Given the description of an element on the screen output the (x, y) to click on. 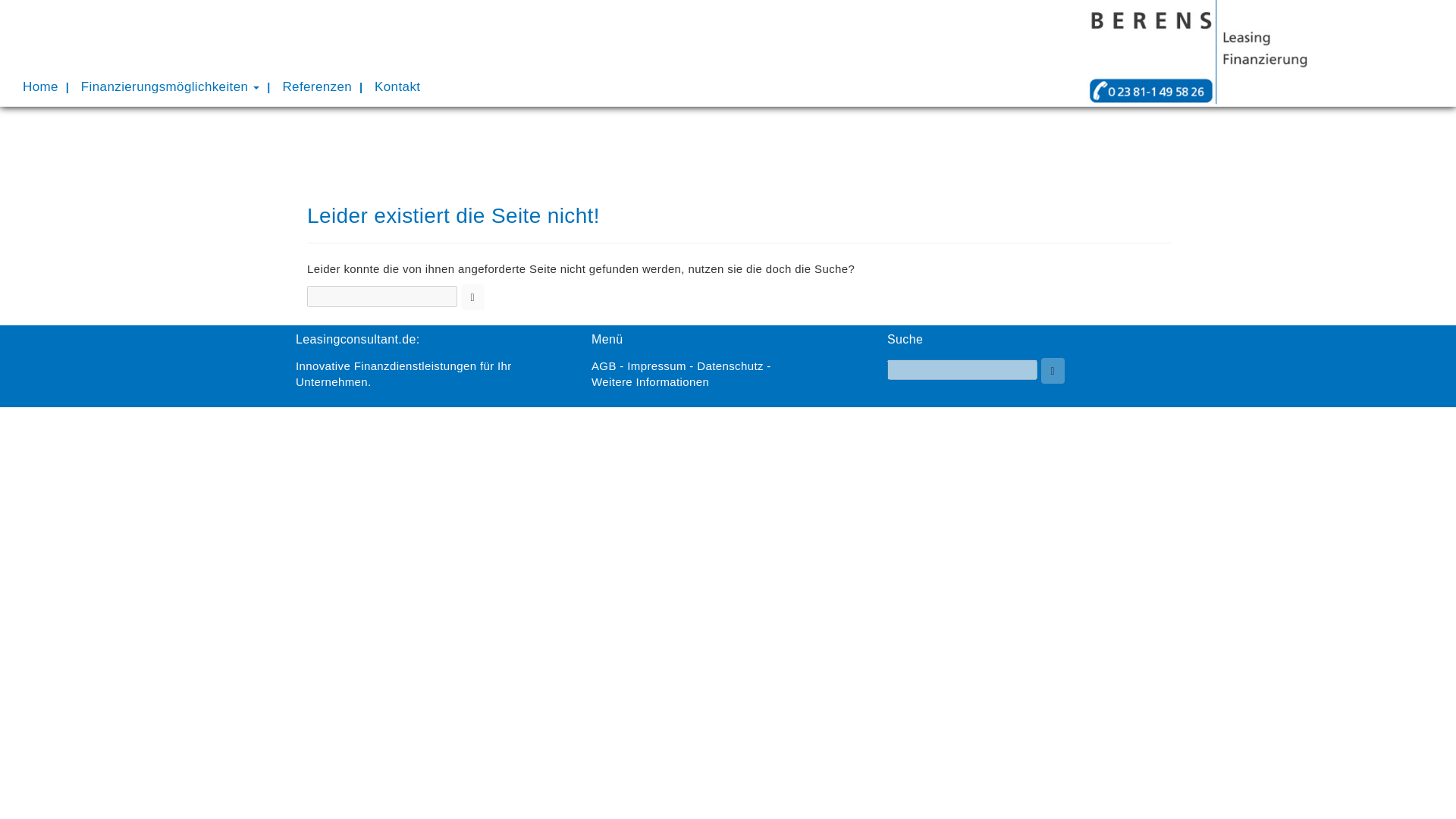
Home (40, 86)
Home (40, 86)
Kontakt (396, 86)
Referenzen (316, 86)
Referenzen (316, 86)
Kontakt (396, 86)
